Given the description of an element on the screen output the (x, y) to click on. 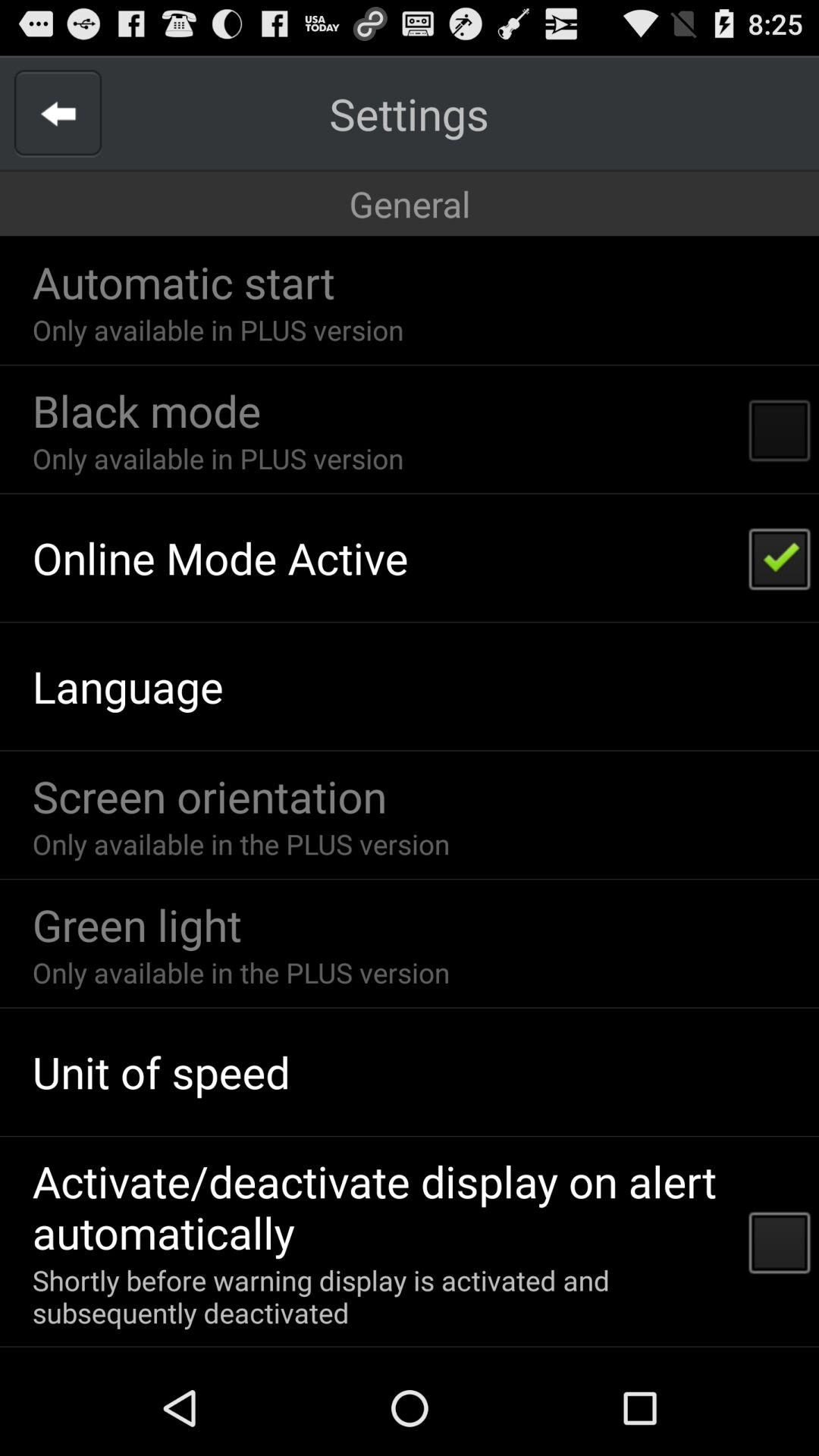
go back to previous menu (57, 113)
